Given the description of an element on the screen output the (x, y) to click on. 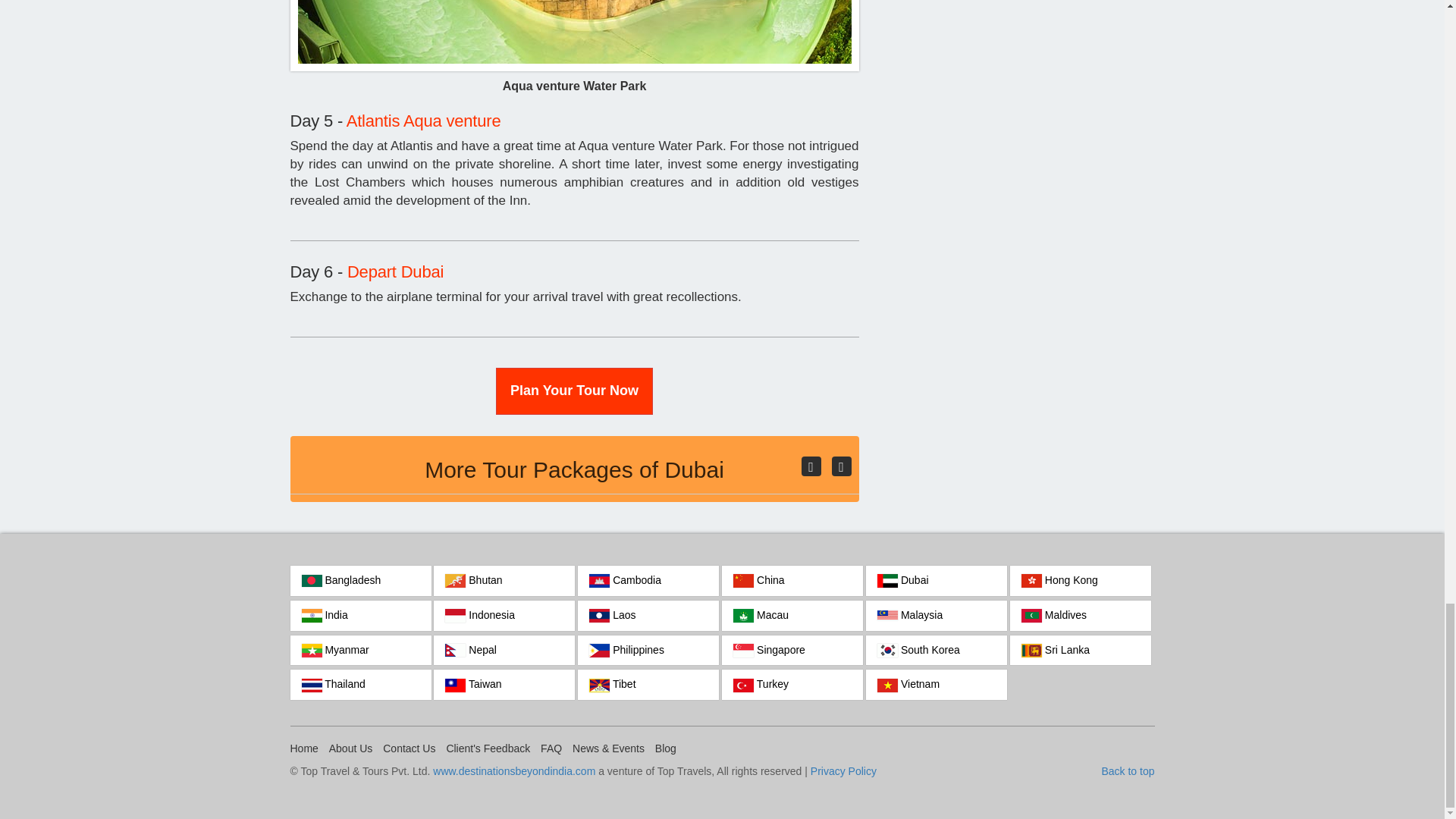
Maldives (1080, 615)
Cambodia (648, 580)
Singapore (792, 650)
Philippines (648, 650)
Bhutan (504, 580)
Dubai (936, 580)
Sri Lanka (1080, 650)
South Korea (936, 650)
Malaysia (936, 615)
Hong Kong (1080, 580)
Myanmar (359, 650)
Nepal (504, 650)
Thailand (359, 684)
China (792, 580)
India (359, 615)
